Given the description of an element on the screen output the (x, y) to click on. 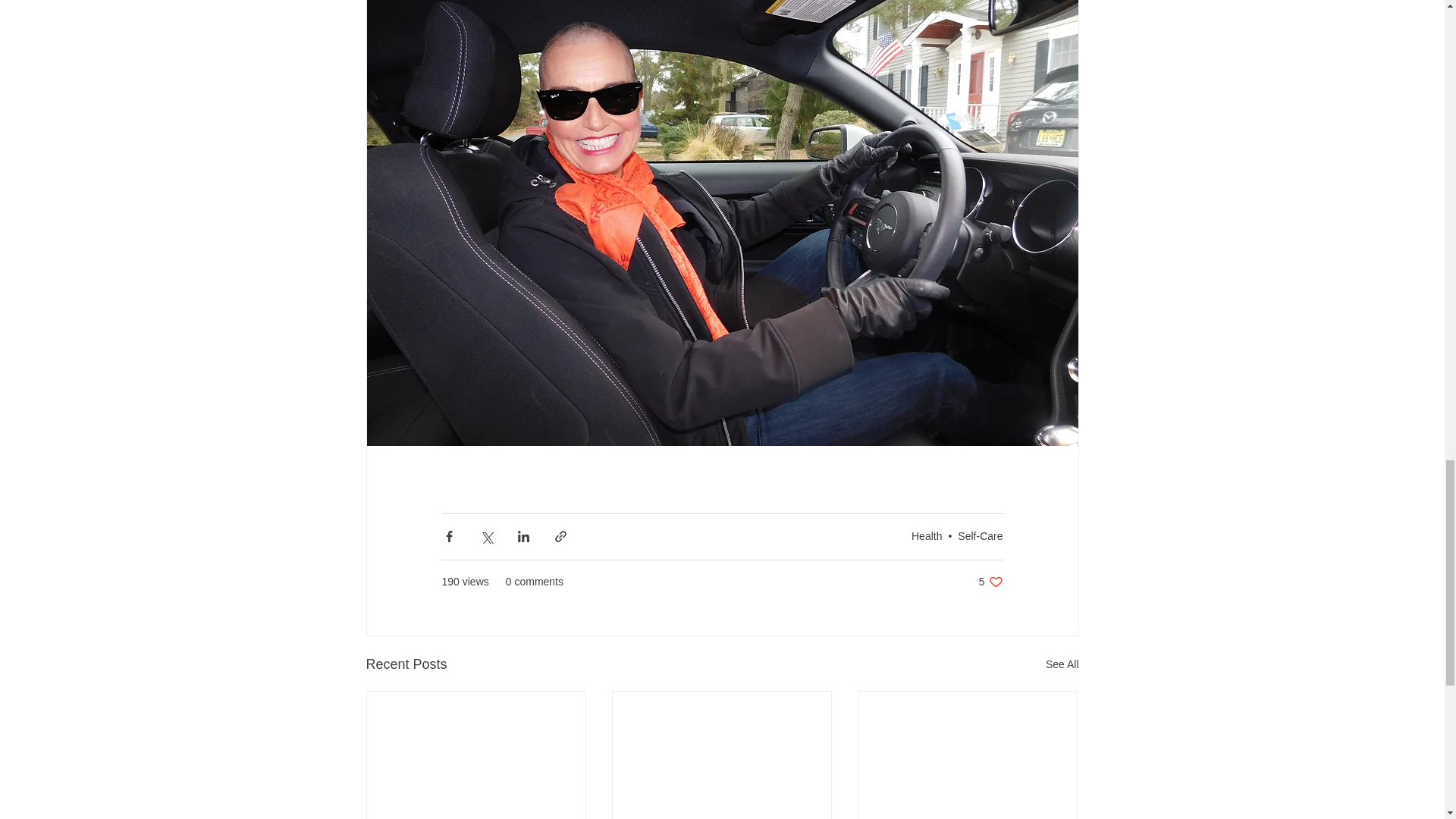
Self-Care (980, 535)
Health (926, 535)
See All (1061, 664)
